Given the description of an element on the screen output the (x, y) to click on. 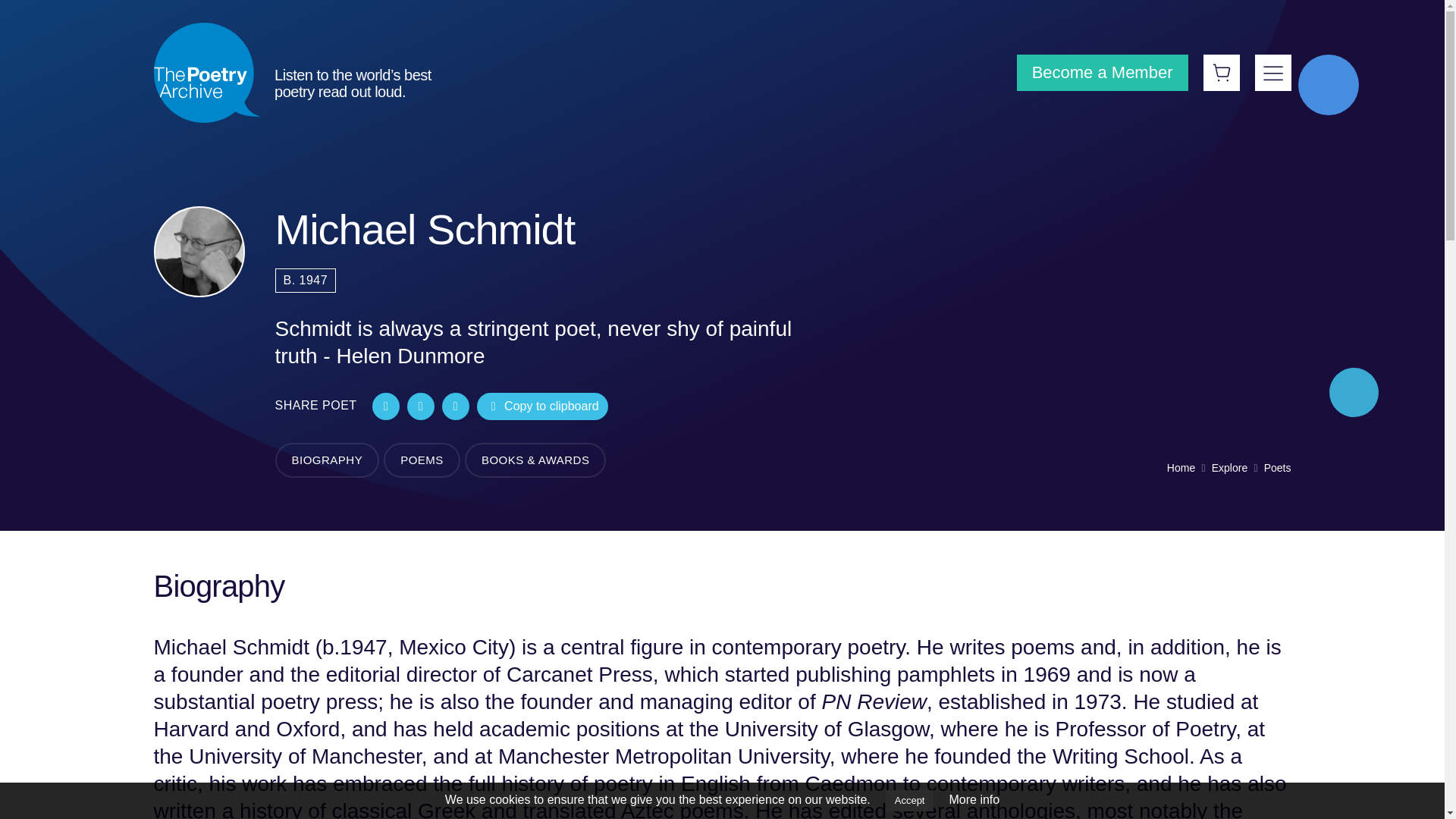
Share this on Facebook (420, 406)
Copy link (542, 406)
Share this by email (455, 406)
Main Navigation (1271, 72)
Share this on Twitter (385, 406)
View Basket (1220, 72)
Become a Member (1102, 72)
